Given the description of an element on the screen output the (x, y) to click on. 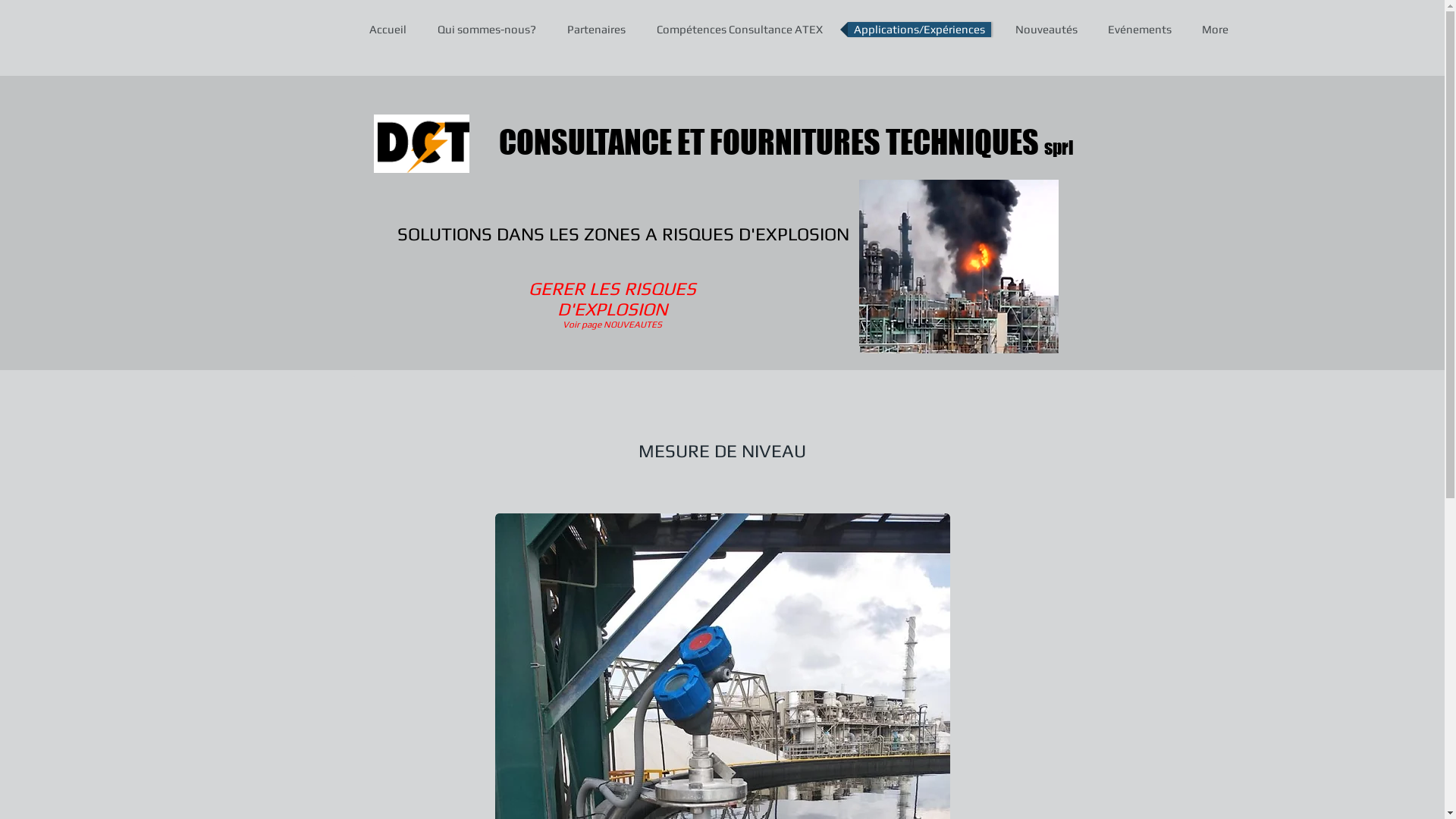
Qui sommes-nous? Element type: text (486, 29)
Partenaires Element type: text (596, 29)
2221732778.png Element type: hover (957, 266)
dct-logo.png Element type: hover (420, 143)
Accueil Element type: text (386, 29)
